Given the description of an element on the screen output the (x, y) to click on. 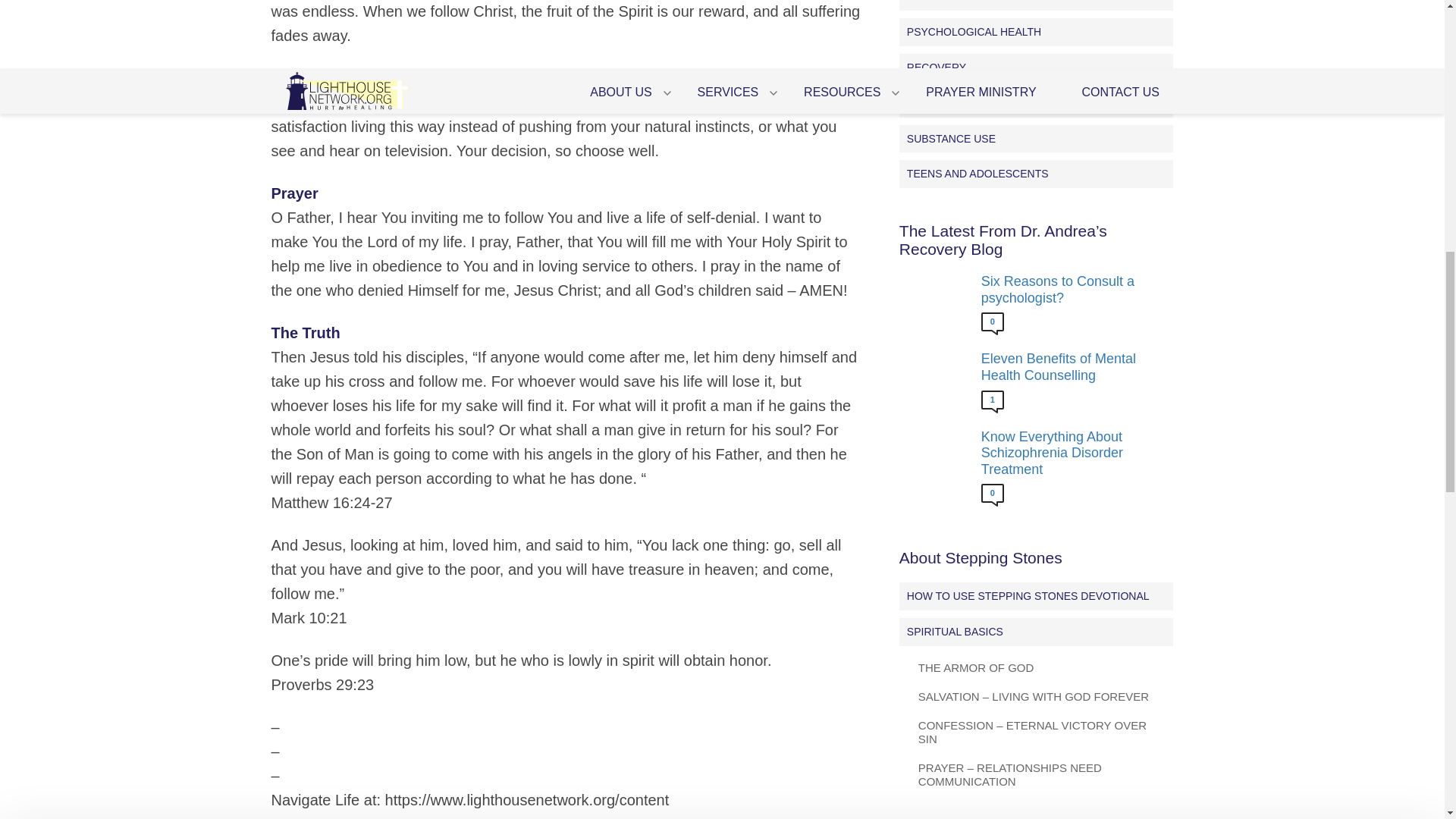
Six Reasons to Consult a psychologist? (1073, 289)
Eleven Benefits of Mental Health Counselling (1073, 367)
Know Everything About Schizophrenia Disorder Treatment (1073, 453)
